Given the description of an element on the screen output the (x, y) to click on. 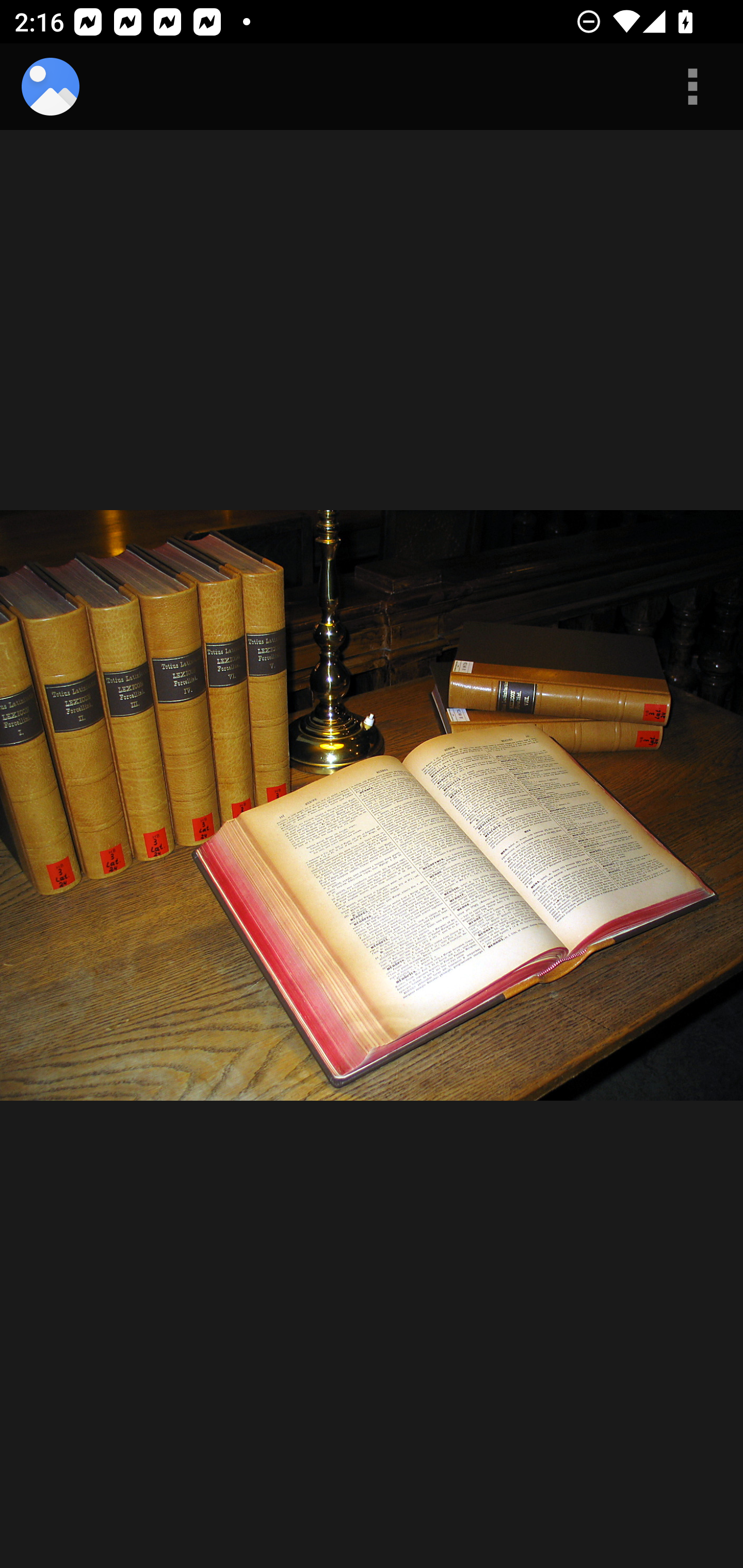
More options (692, 86)
